Given the description of an element on the screen output the (x, y) to click on. 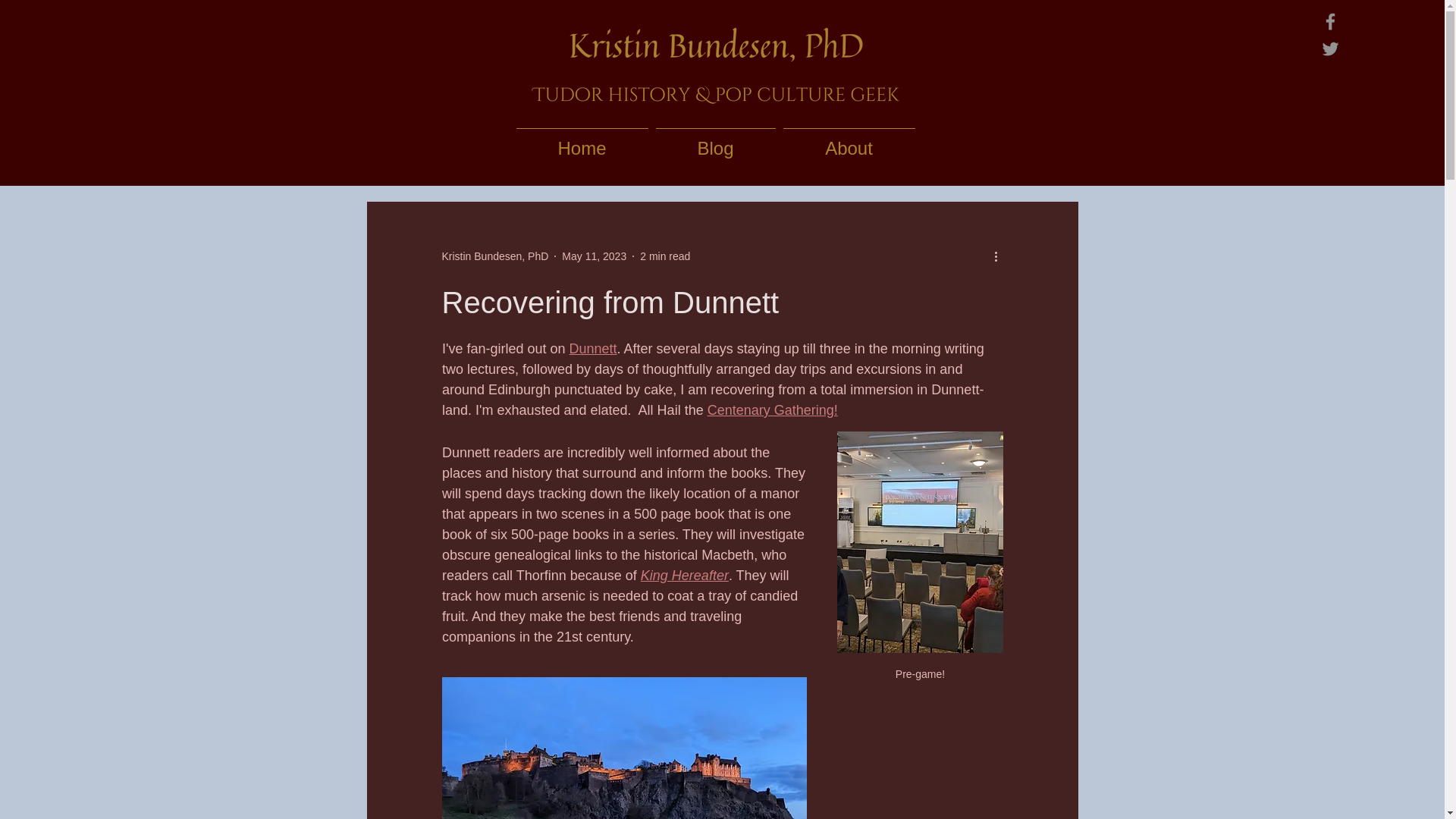
May 11, 2023 (594, 256)
Blog (715, 140)
Kristin Bundesen, PhD (494, 256)
Home (582, 140)
About (848, 140)
Dunnett (592, 348)
Centenary Gathering! (771, 409)
2 min read (665, 256)
King Hereafter (684, 575)
